Given the description of an element on the screen output the (x, y) to click on. 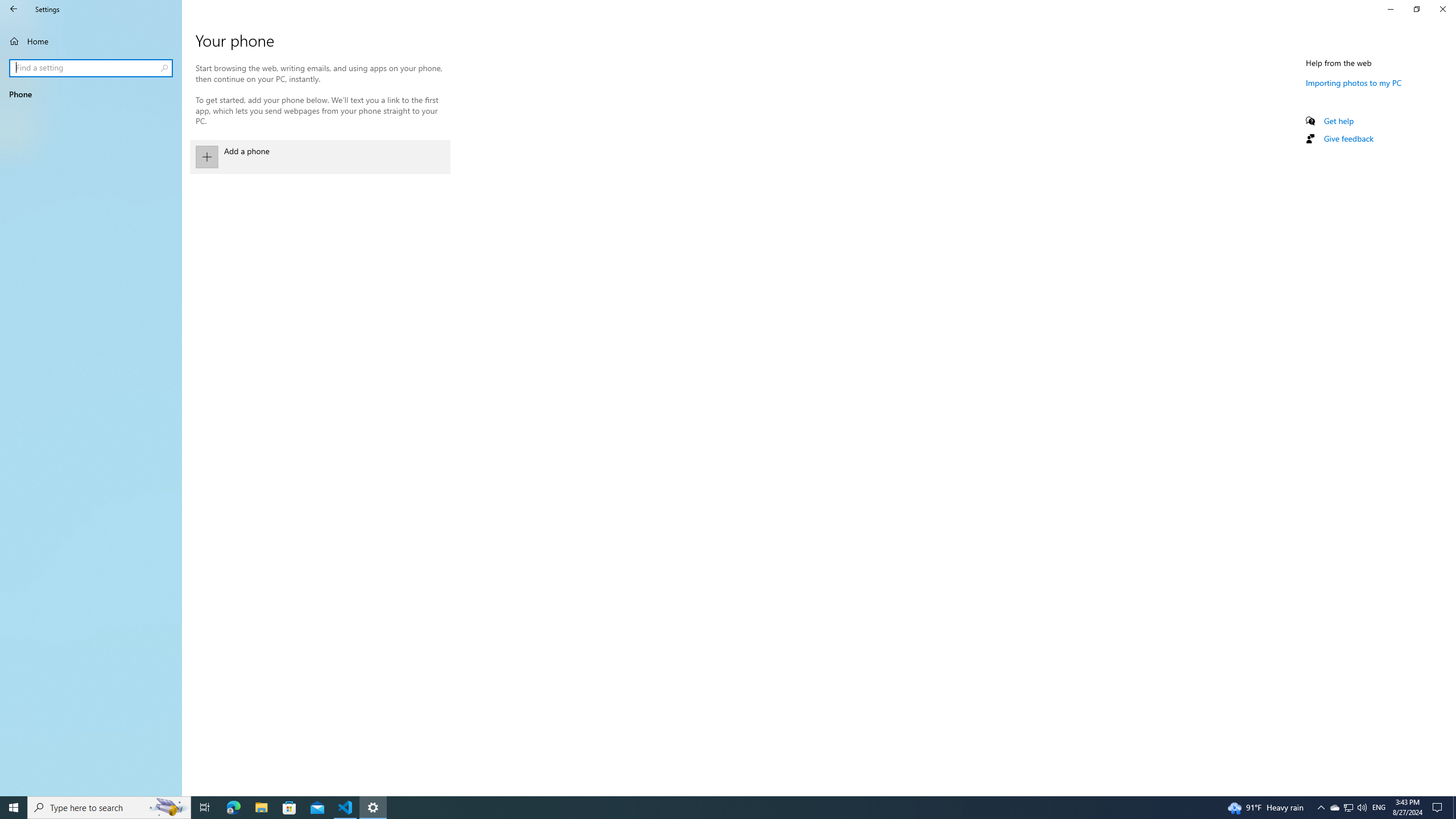
Add a phone (319, 156)
